Given the description of an element on the screen output the (x, y) to click on. 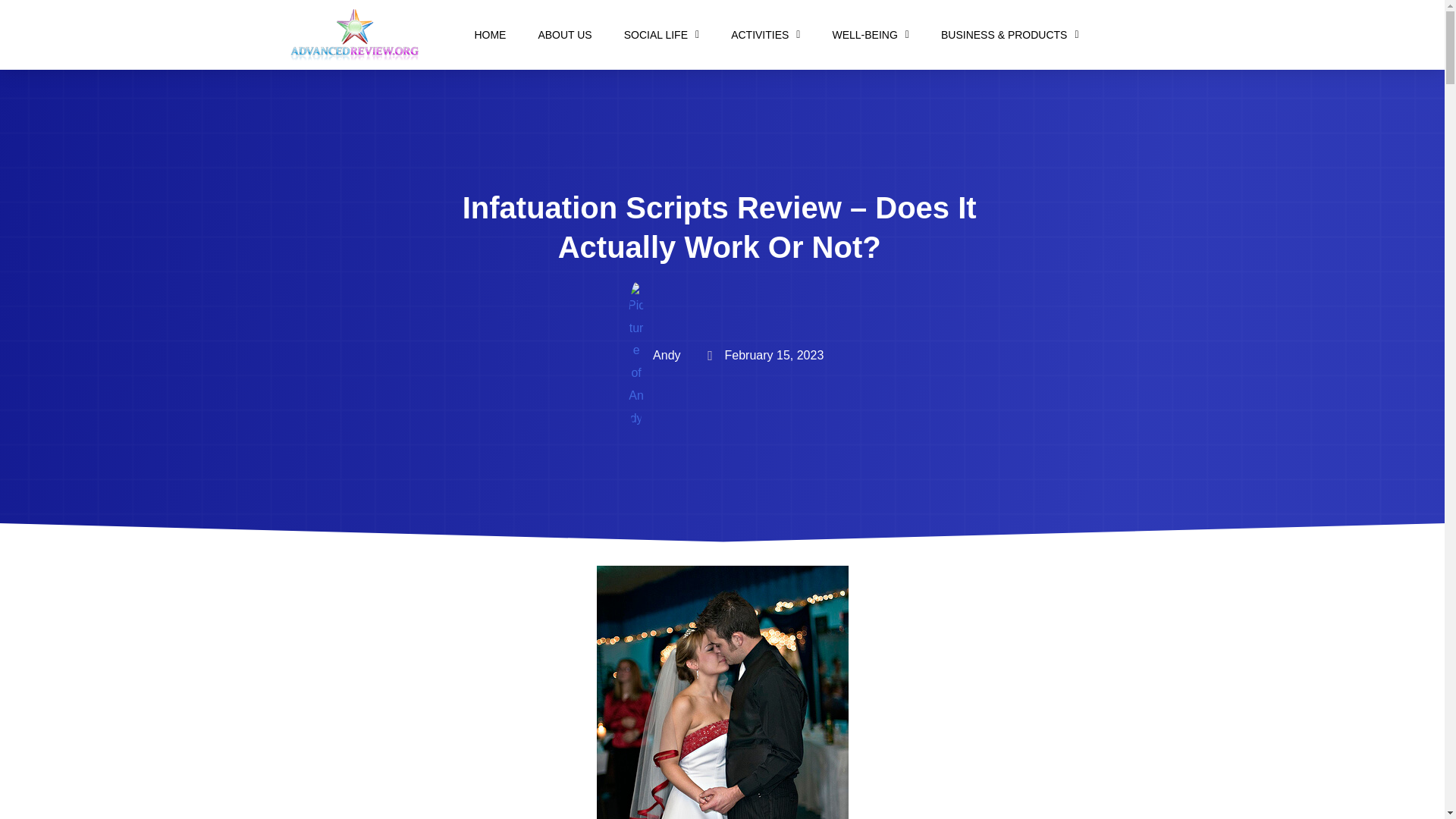
ACTIVITIES (765, 34)
ABOUT US (564, 34)
HOME (489, 34)
SOCIAL LIFE (661, 34)
WELL-BEING (869, 34)
